Given the description of an element on the screen output the (x, y) to click on. 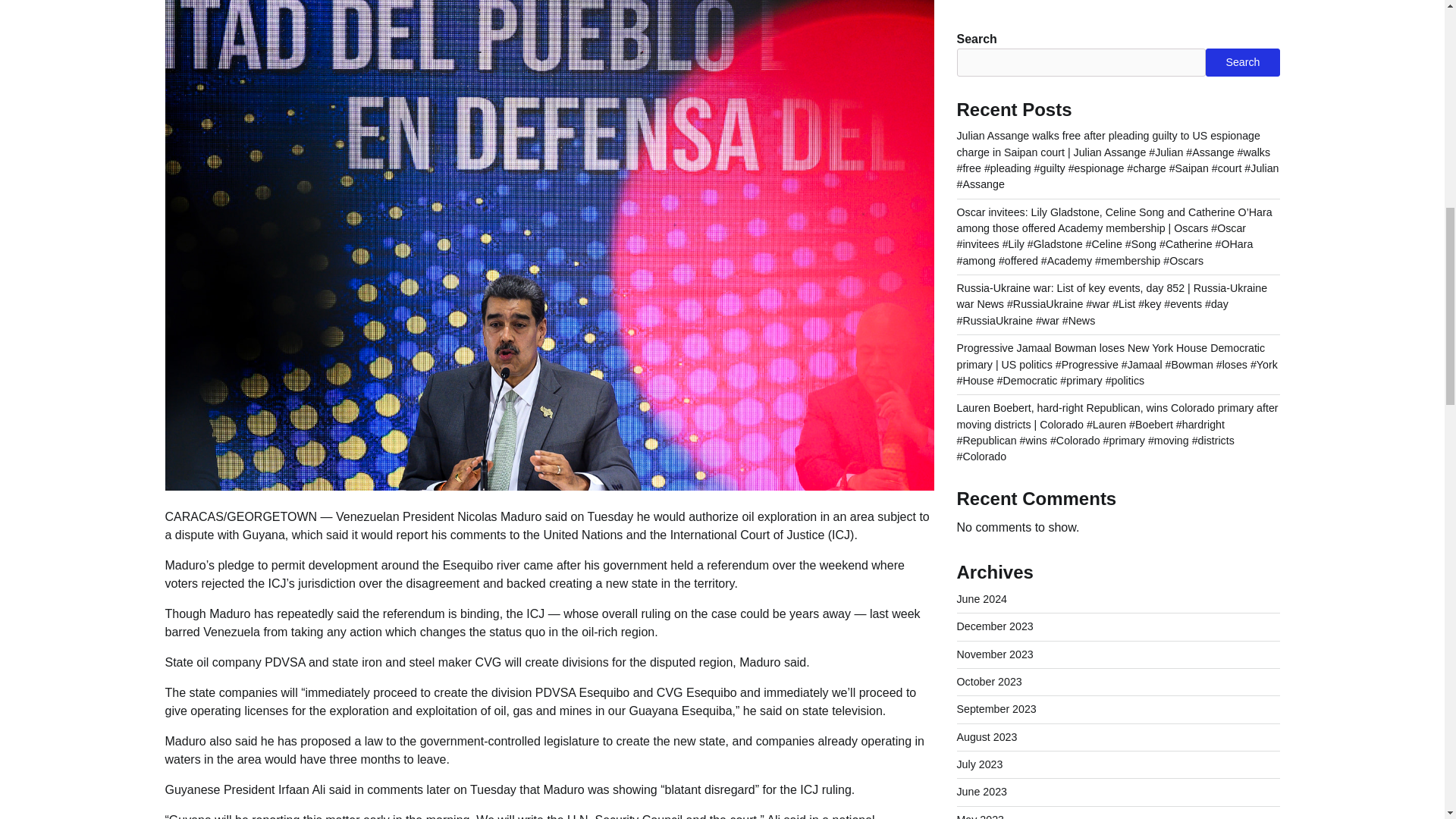
May 2023 (980, 157)
February 2023 (991, 240)
September 2023 (996, 46)
March 2023 (984, 212)
June 2023 (981, 129)
April 2023 (981, 184)
October 2023 (989, 19)
August 2023 (986, 74)
July 2023 (979, 102)
